Given the description of an element on the screen output the (x, y) to click on. 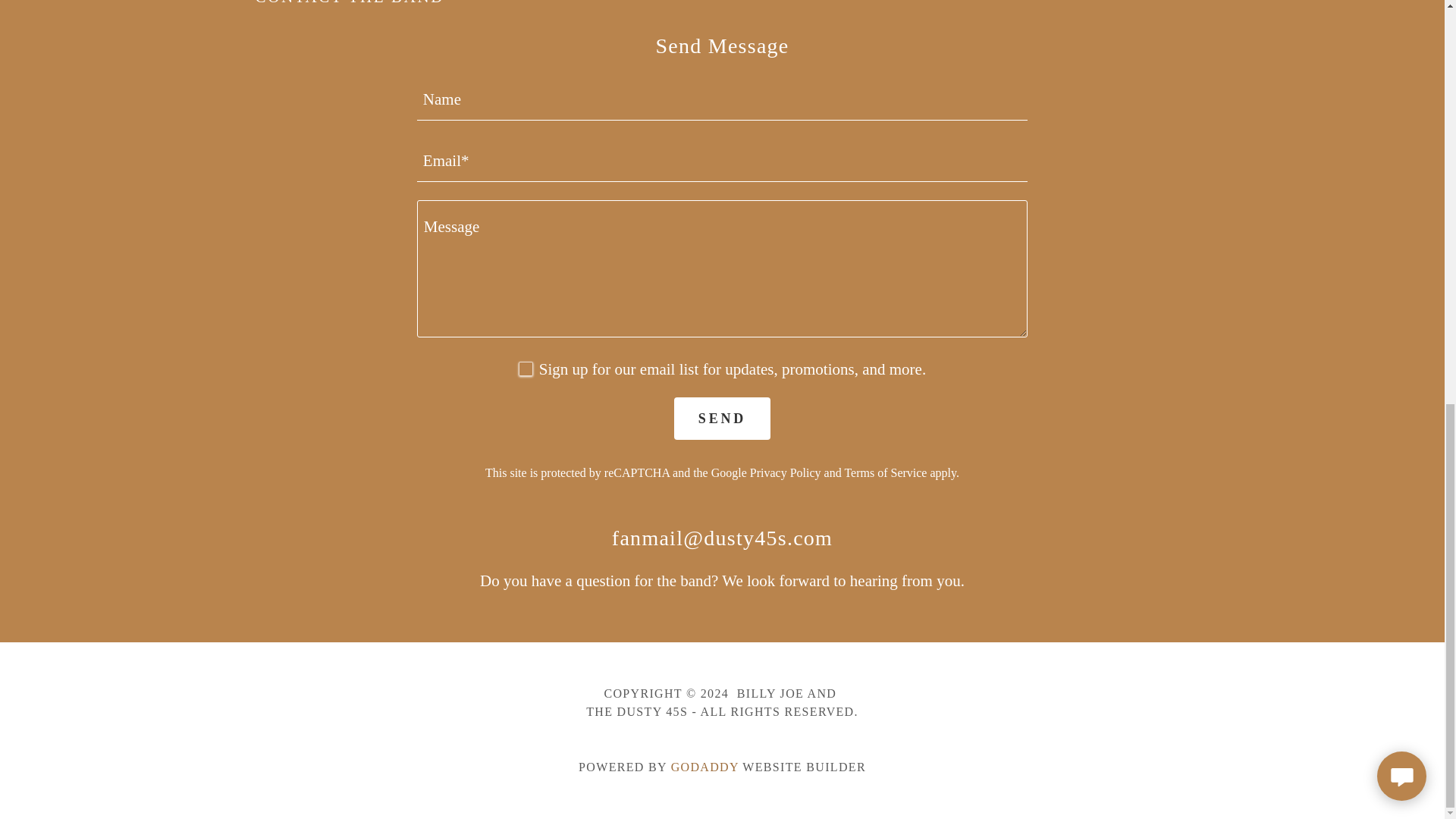
SEND (722, 418)
Terms of Service (885, 472)
GODADDY (705, 766)
Privacy Policy (785, 472)
